Given the description of an element on the screen output the (x, y) to click on. 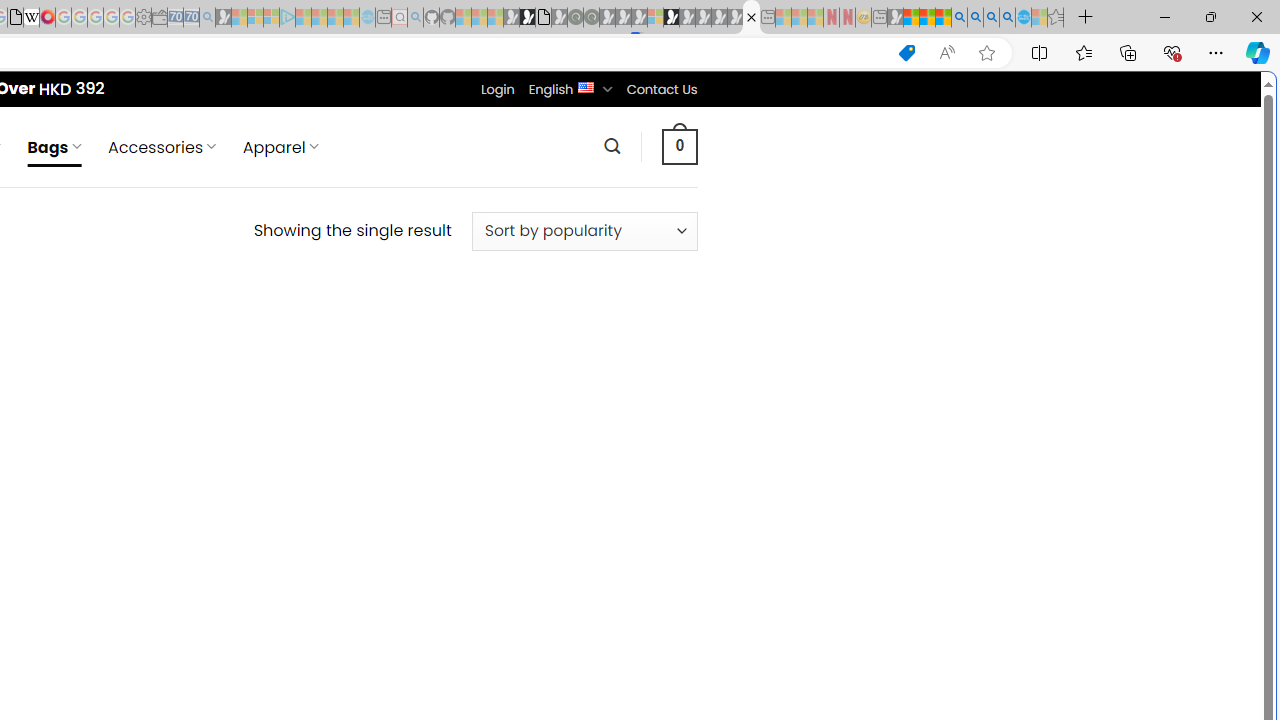
Login (497, 89)
Favorites - Sleeping (1055, 17)
